Given the description of an element on the screen output the (x, y) to click on. 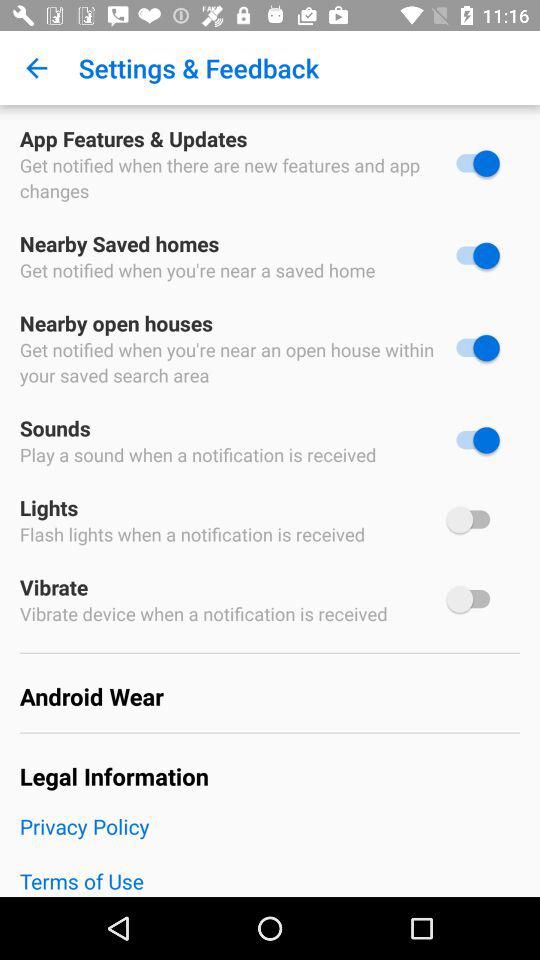
turn off the item below legal information item (269, 839)
